Given the description of an element on the screen output the (x, y) to click on. 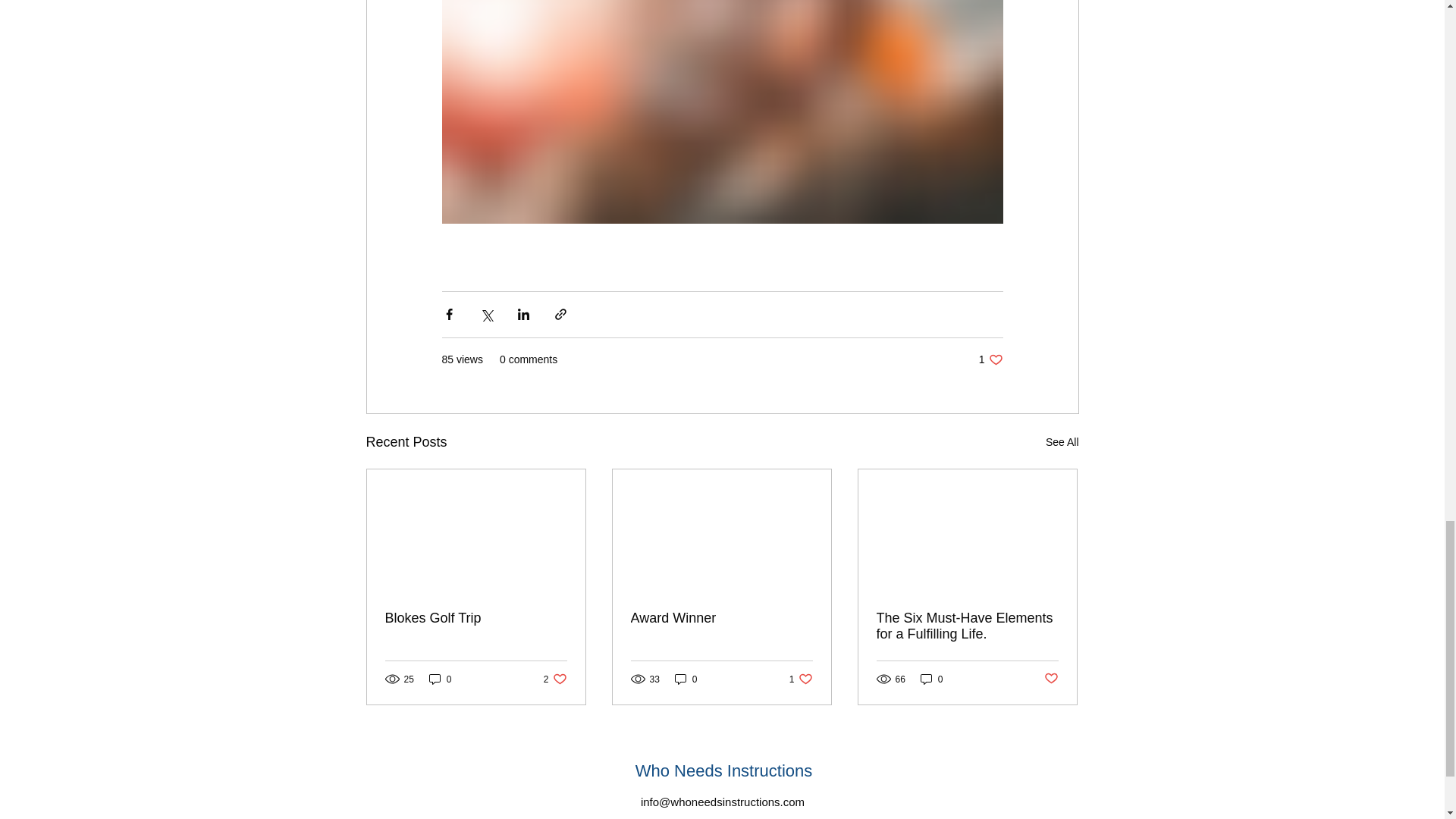
See All (1061, 442)
Award Winner (721, 618)
Blokes Golf Trip (476, 618)
0 (440, 678)
0 (685, 678)
Post not marked as liked (1050, 678)
0 (800, 678)
The Six Must-Have Elements for a Fulfilling Life. (931, 678)
